Given the description of an element on the screen output the (x, y) to click on. 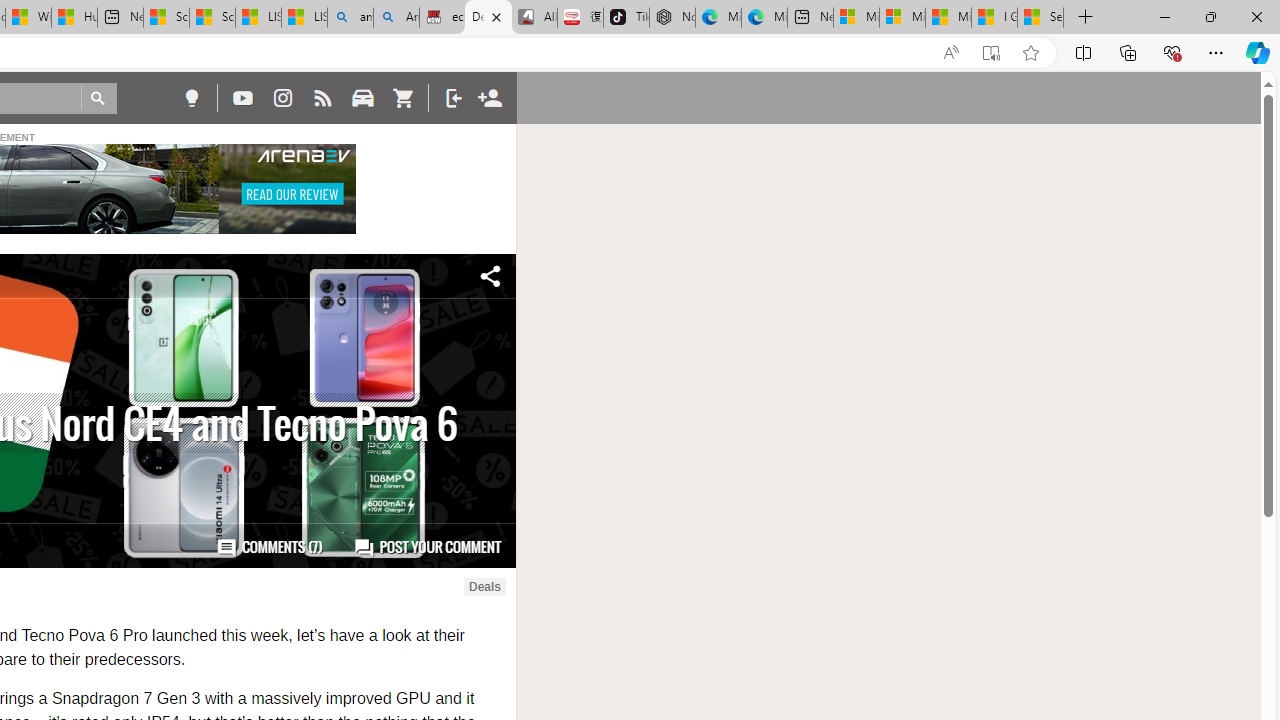
Microsoft account | Privacy (902, 17)
Enter Immersive Reader (F9) (991, 53)
All Cubot phones (534, 17)
Huge shark washes ashore at New York City beach | Watch (74, 17)
Go (98, 97)
I Gained 20 Pounds of Muscle in 30 Days! | Watch (994, 17)
